Given the description of an element on the screen output the (x, y) to click on. 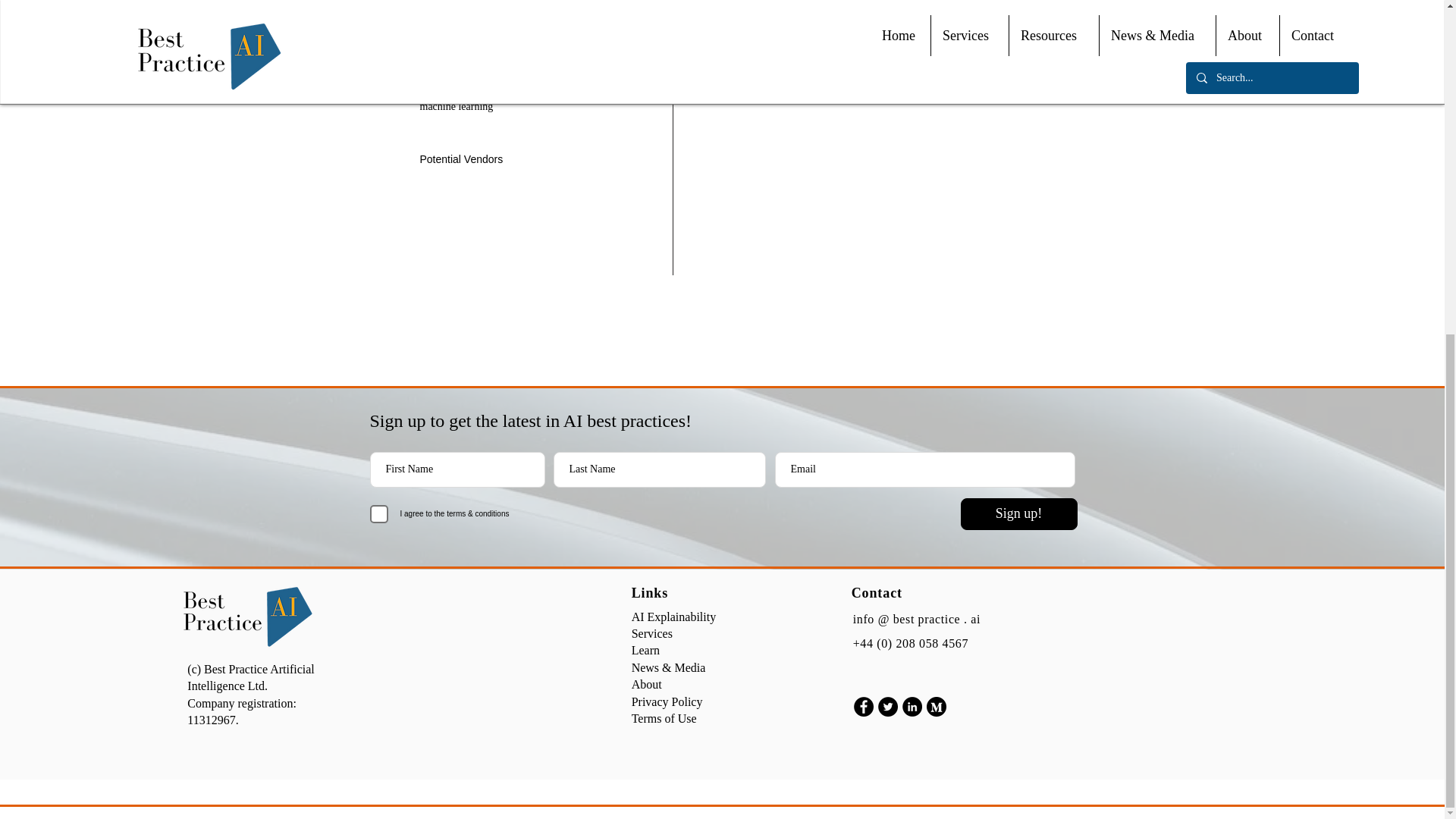
Contact (876, 592)
Privacy Policy (667, 701)
Sign up! (1018, 513)
AI Explainability (673, 616)
Terms of Use (664, 717)
About (646, 684)
Services (651, 633)
Learn (645, 649)
